Given the description of an element on the screen output the (x, y) to click on. 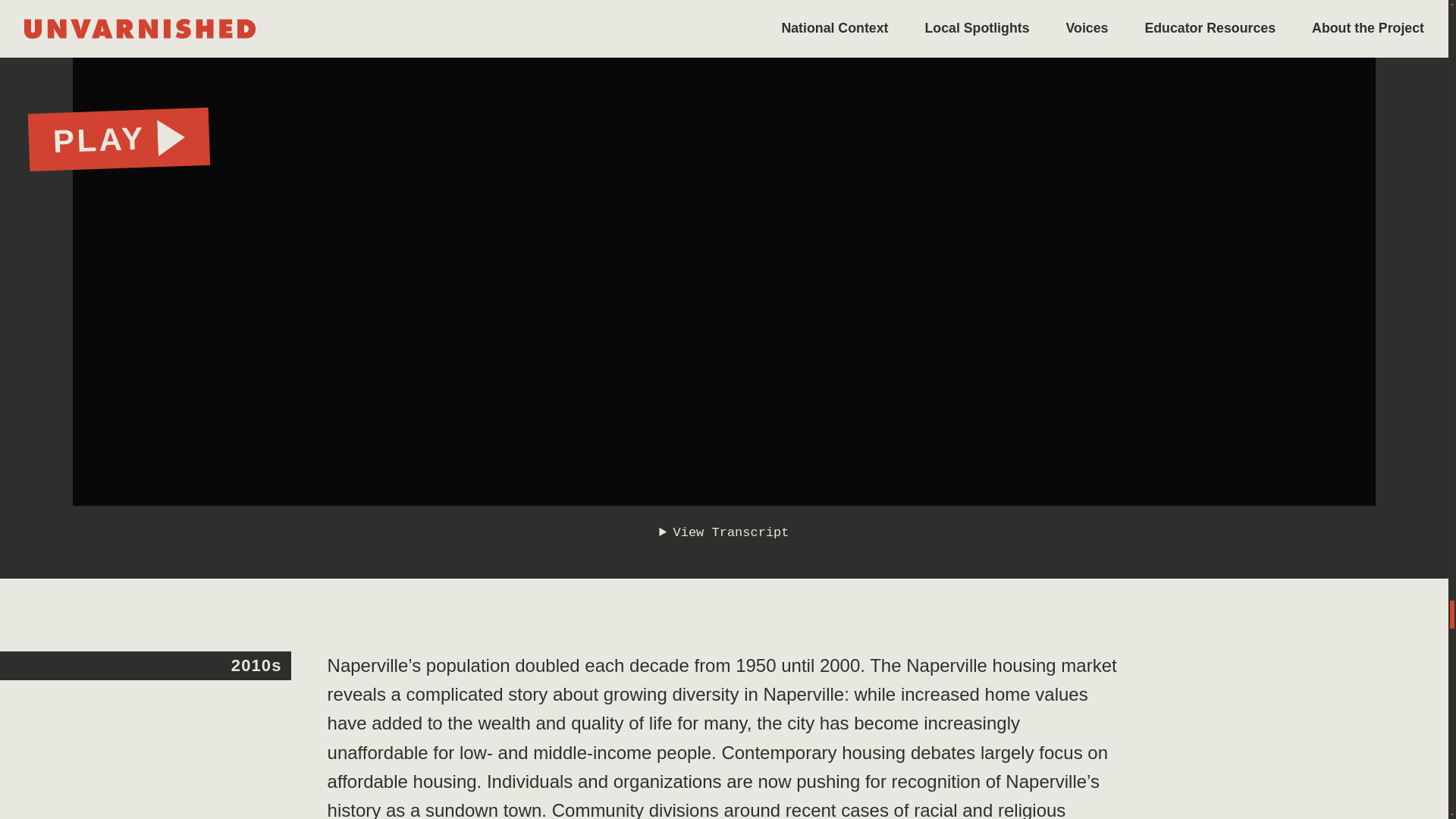
PLAY (117, 135)
